Given the description of an element on the screen output the (x, y) to click on. 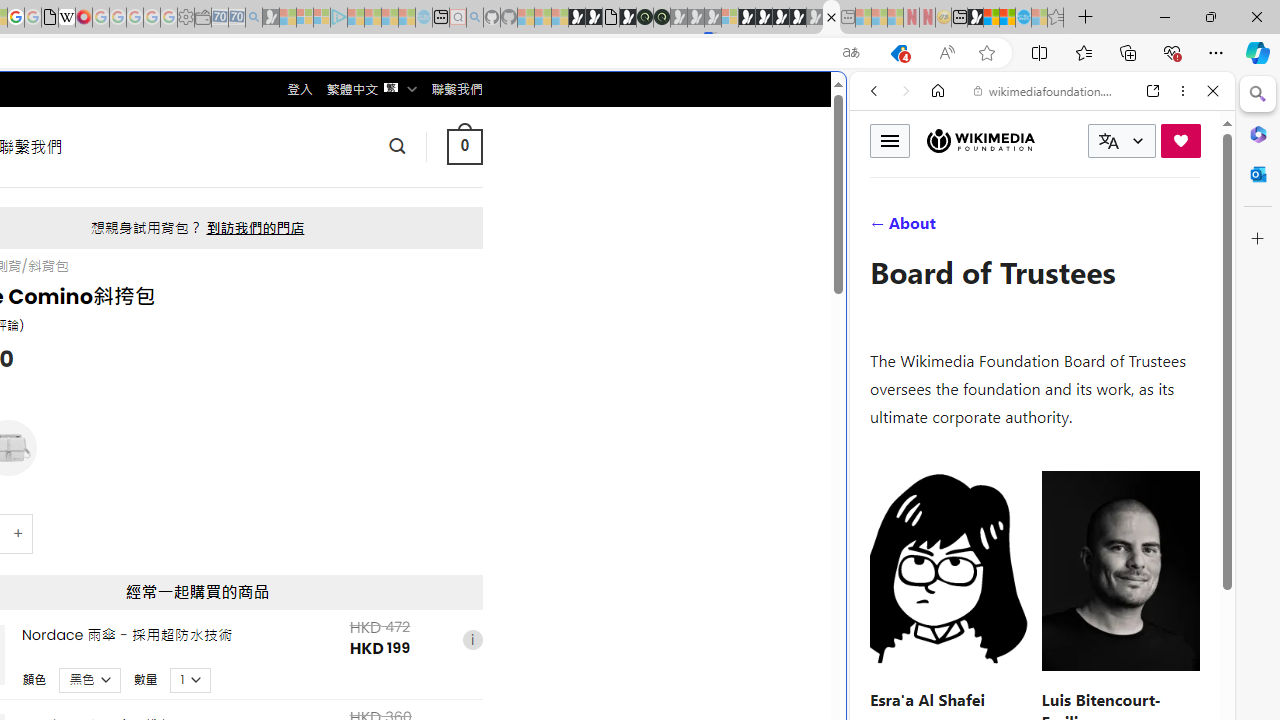
CURRENT LANGUAGE: (1121, 141)
Wikimedia Foundation (980, 140)
Donate now (1180, 140)
Class: upsell-v2-product-upsell-variable-product-qty-select (191, 679)
